Given the description of an element on the screen output the (x, y) to click on. 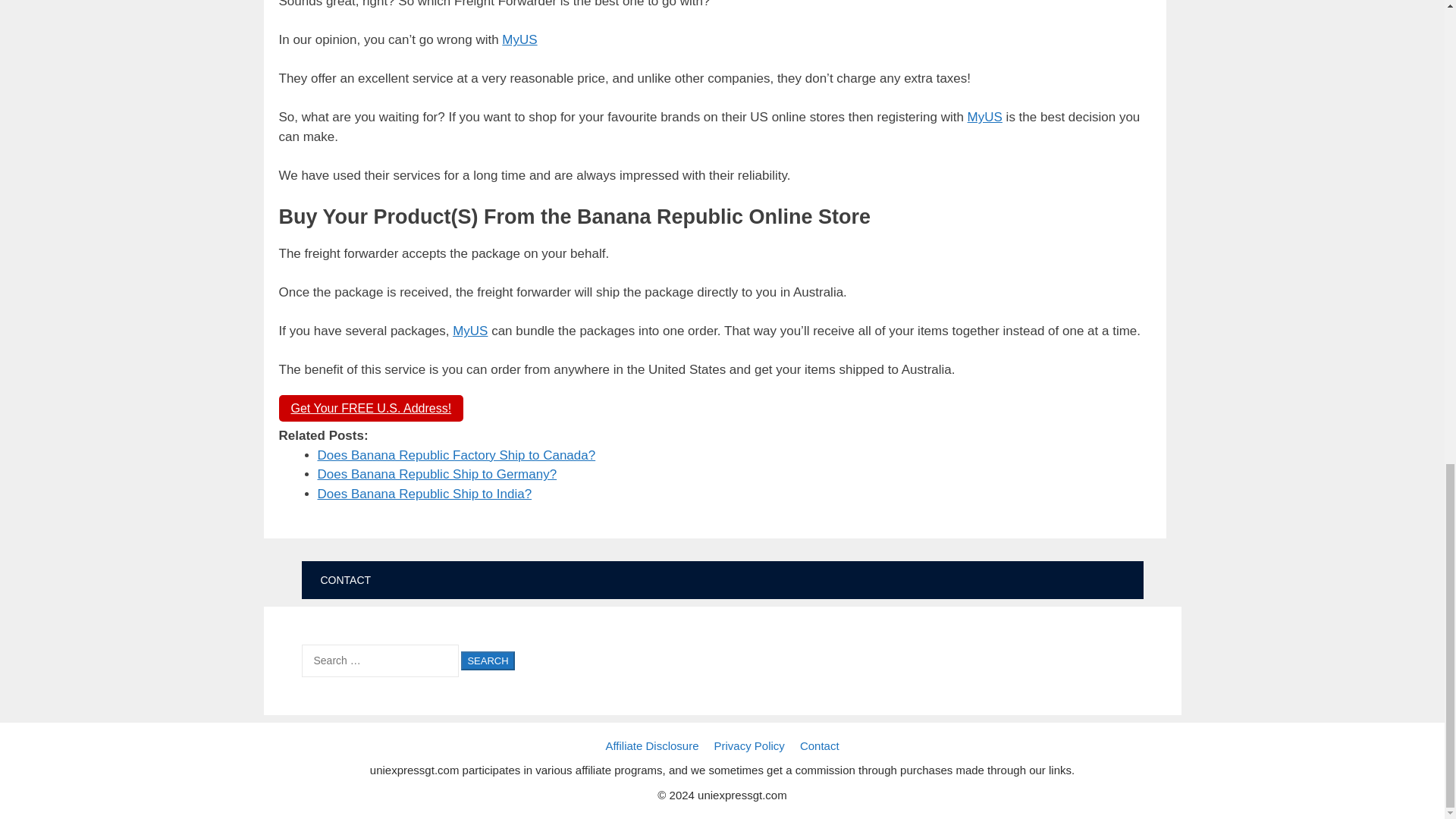
Privacy Policy (749, 745)
Search (487, 660)
Affiliate Disclosure (651, 745)
Search (487, 660)
Search (487, 660)
CONTACT (345, 579)
Get Your FREE U.S. Address! (371, 407)
Does Banana Republic Ship to India? (424, 493)
Contact (819, 745)
Does Banana Republic Ship to Germany? (436, 473)
